Given the description of an element on the screen output the (x, y) to click on. 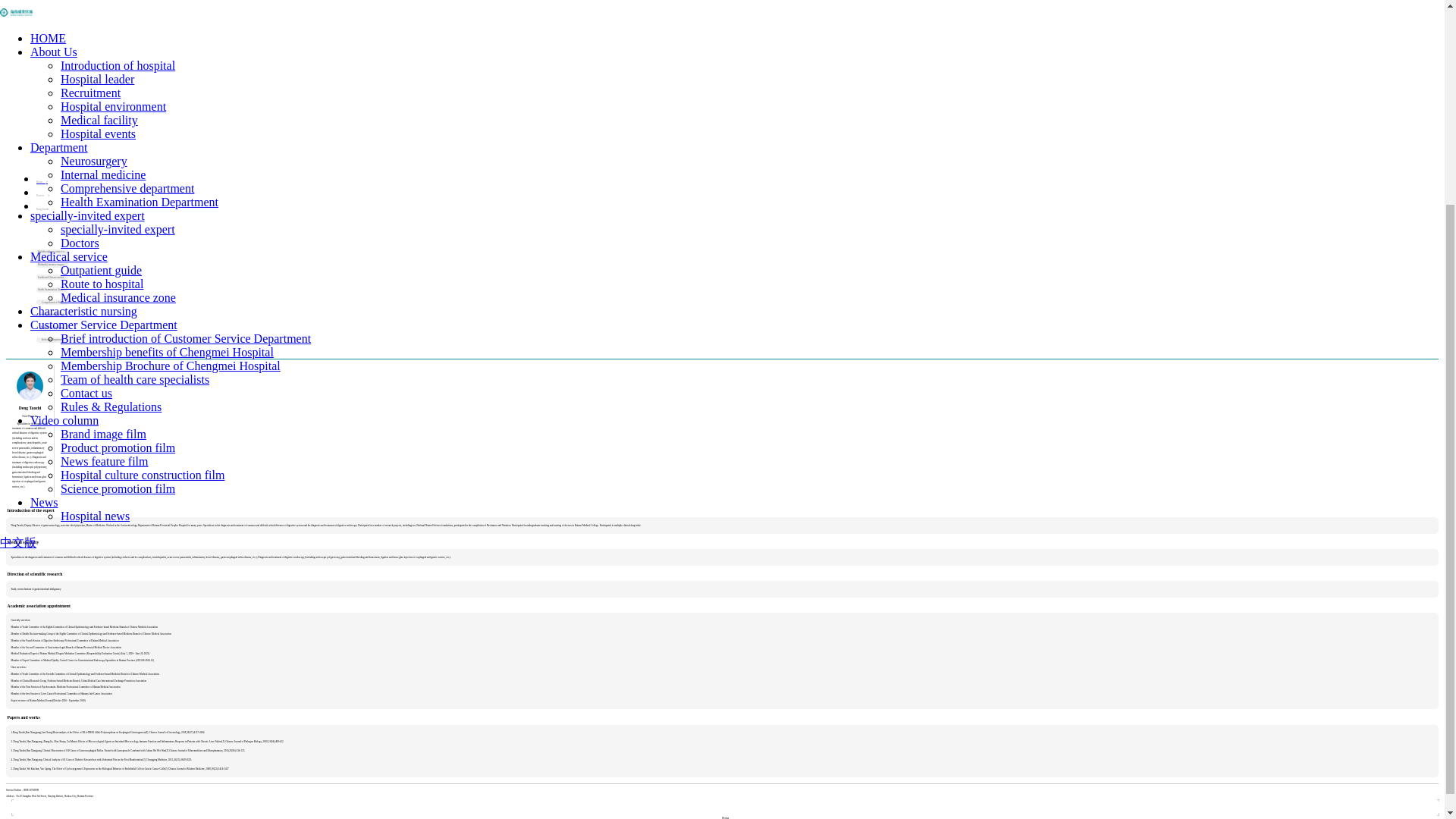
News (170, 233)
Contact us (86, 123)
Brief introduction of Customer Service Department (186, 69)
Video column (170, 151)
Route to hospital (101, 14)
Team of health care specialists (135, 110)
Science promotion film (117, 219)
Characteristic nursing (170, 42)
Product promotion film (117, 178)
Membership benefits of Chengmei Hospital (167, 82)
